Given the description of an element on the screen output the (x, y) to click on. 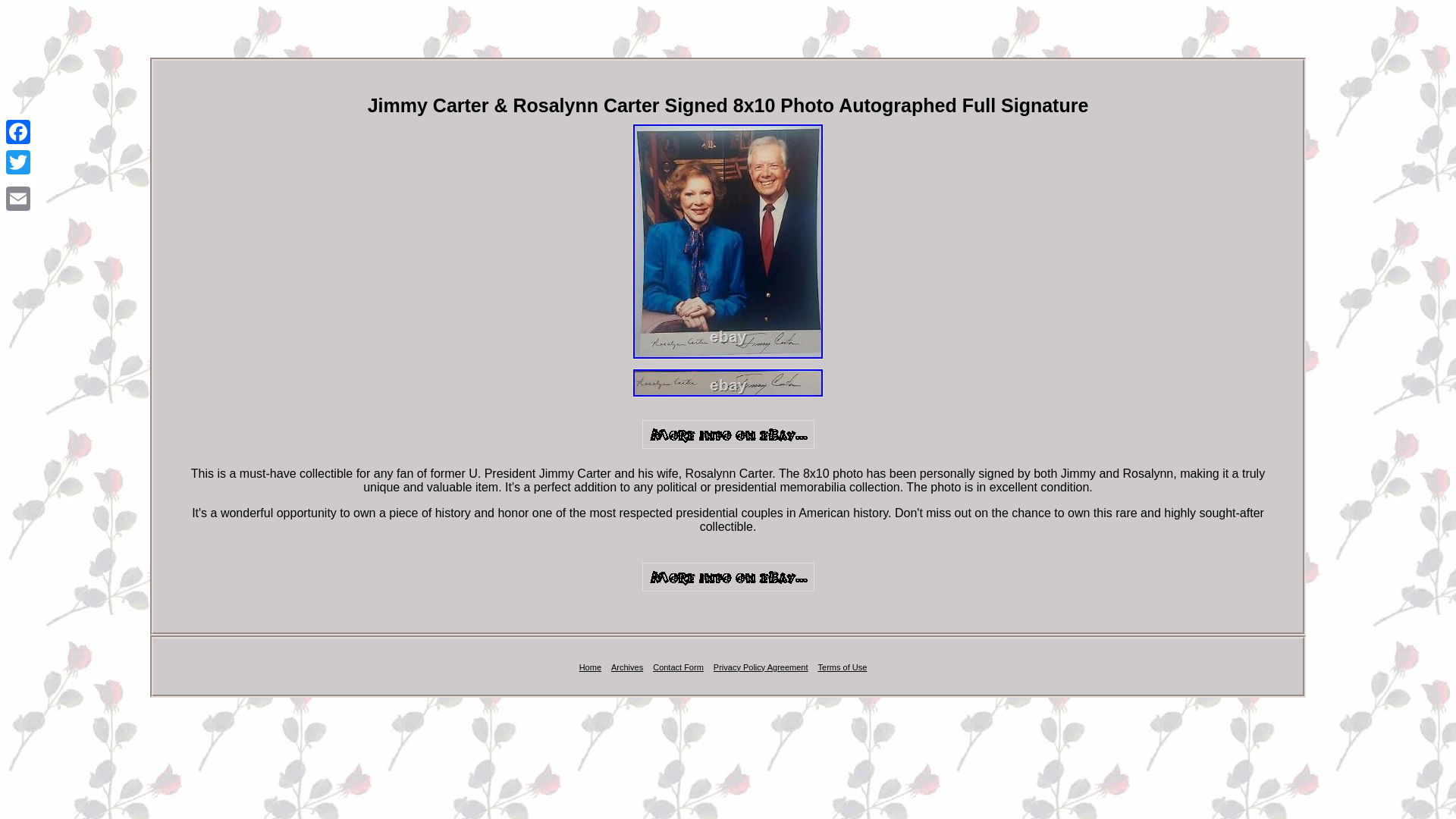
Email (17, 198)
Twitter (17, 162)
Facebook (17, 132)
